Given the description of an element on the screen output the (x, y) to click on. 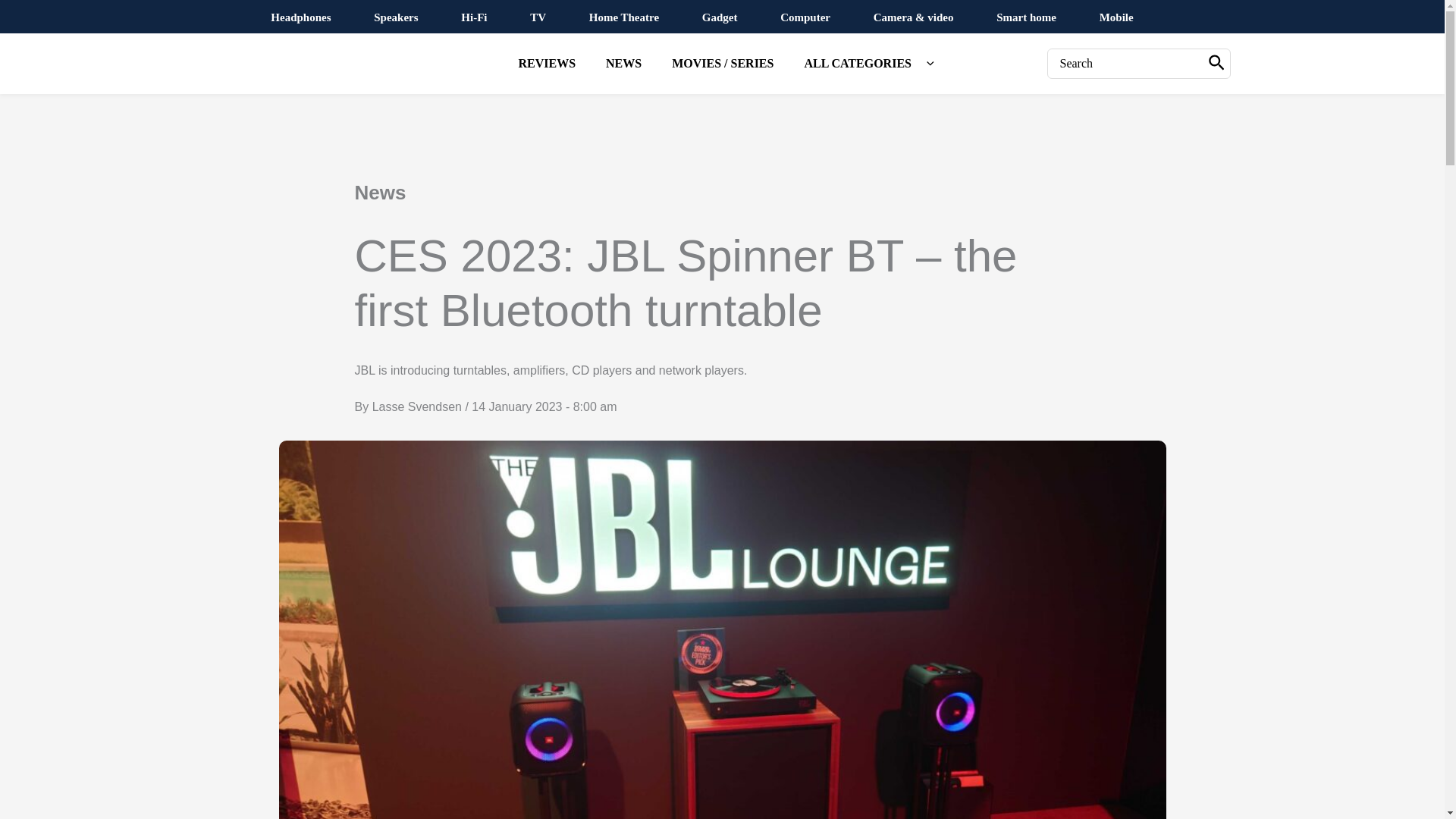
ALL CATEGORIES (864, 63)
Headphones (300, 17)
NEWS (623, 63)
Home Theatre (624, 17)
Hi-Fi (473, 17)
TV (537, 17)
Smart home (1026, 17)
Speakers (395, 17)
Gadget (719, 17)
Mobile (1116, 17)
REVIEWS (546, 63)
Computer (804, 17)
